Given the description of an element on the screen output the (x, y) to click on. 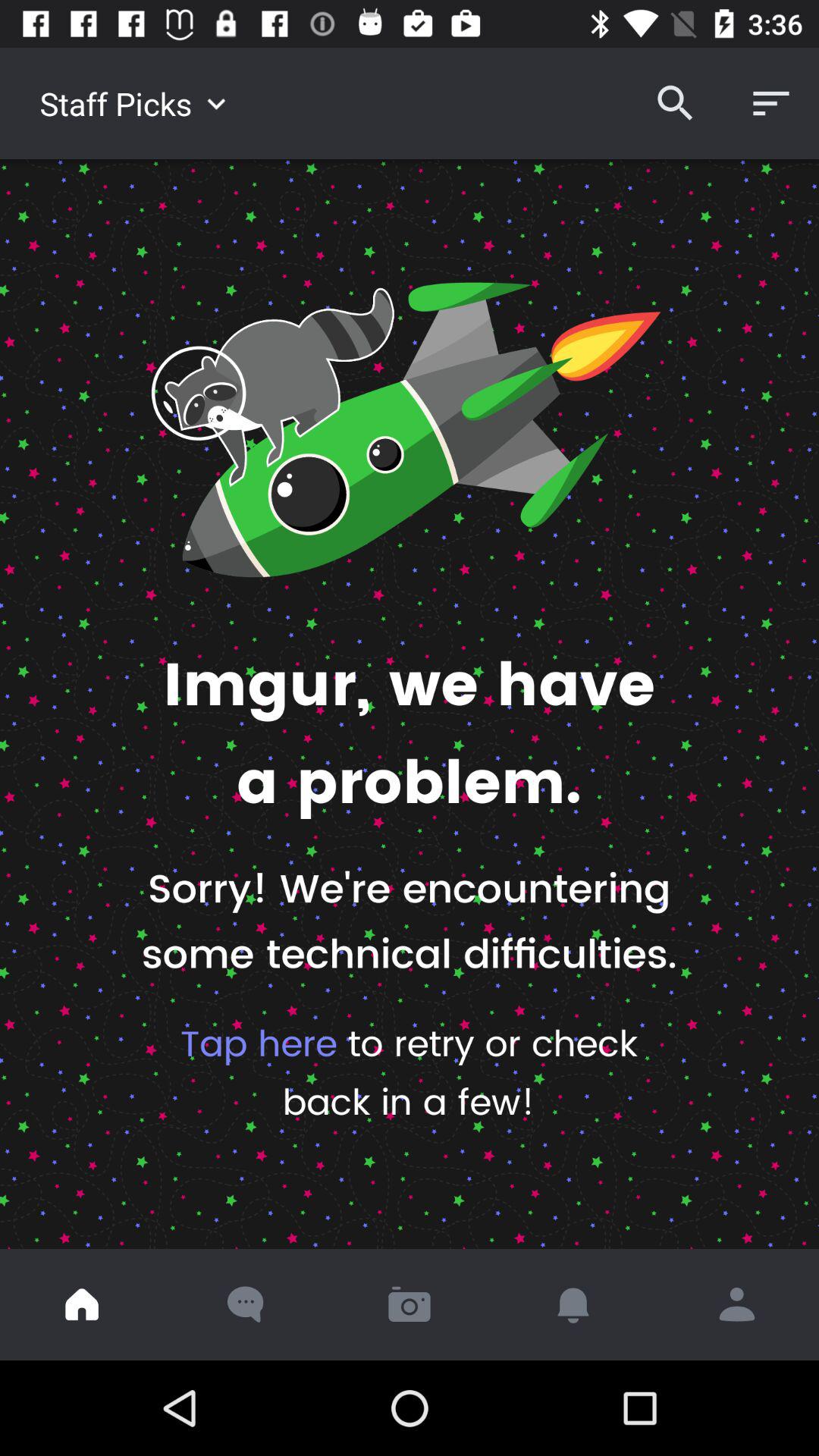
go to home screen (81, 1304)
